Given the description of an element on the screen output the (x, y) to click on. 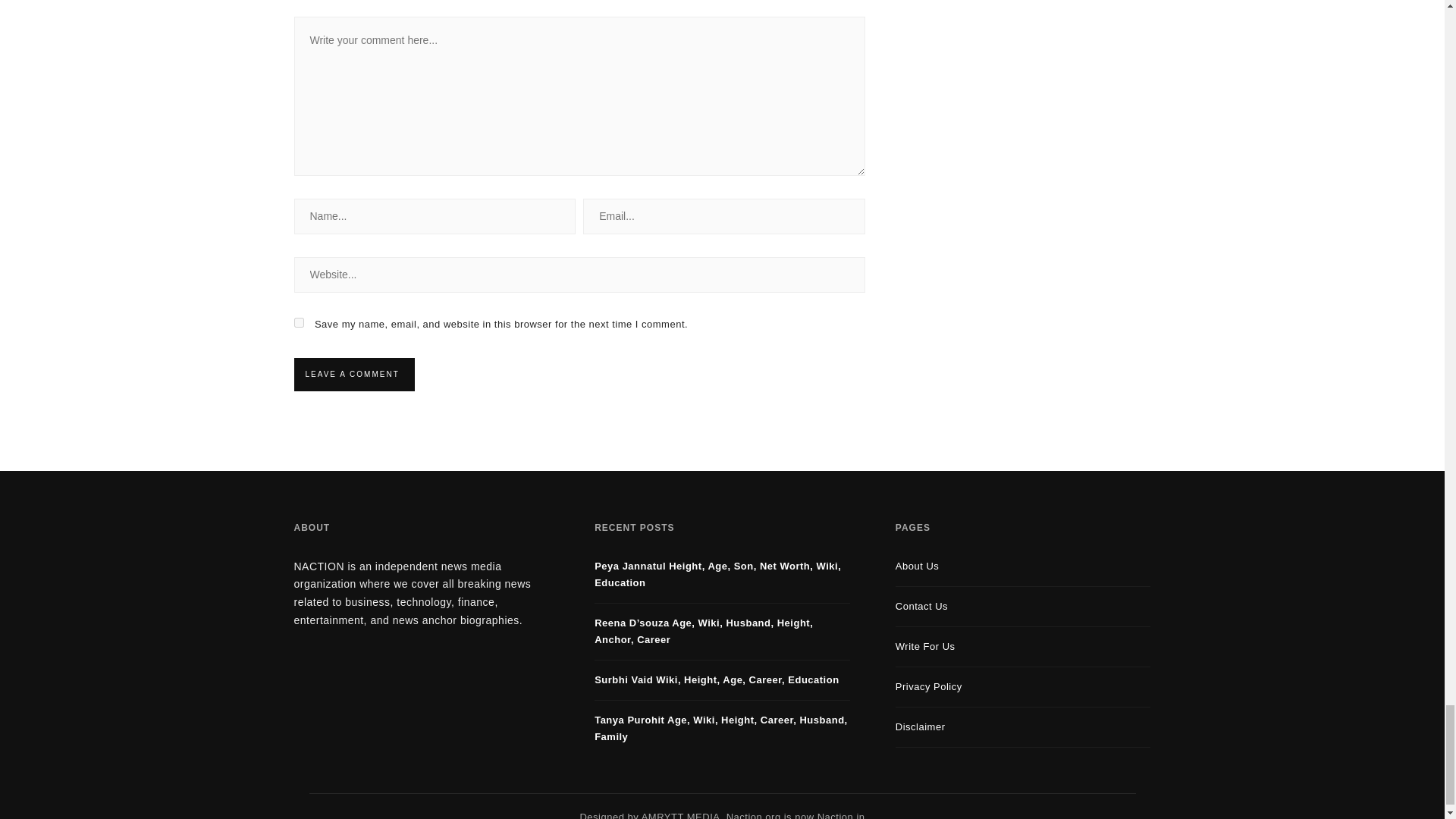
yes (299, 322)
Leave a comment (351, 374)
